Given the description of an element on the screen output the (x, y) to click on. 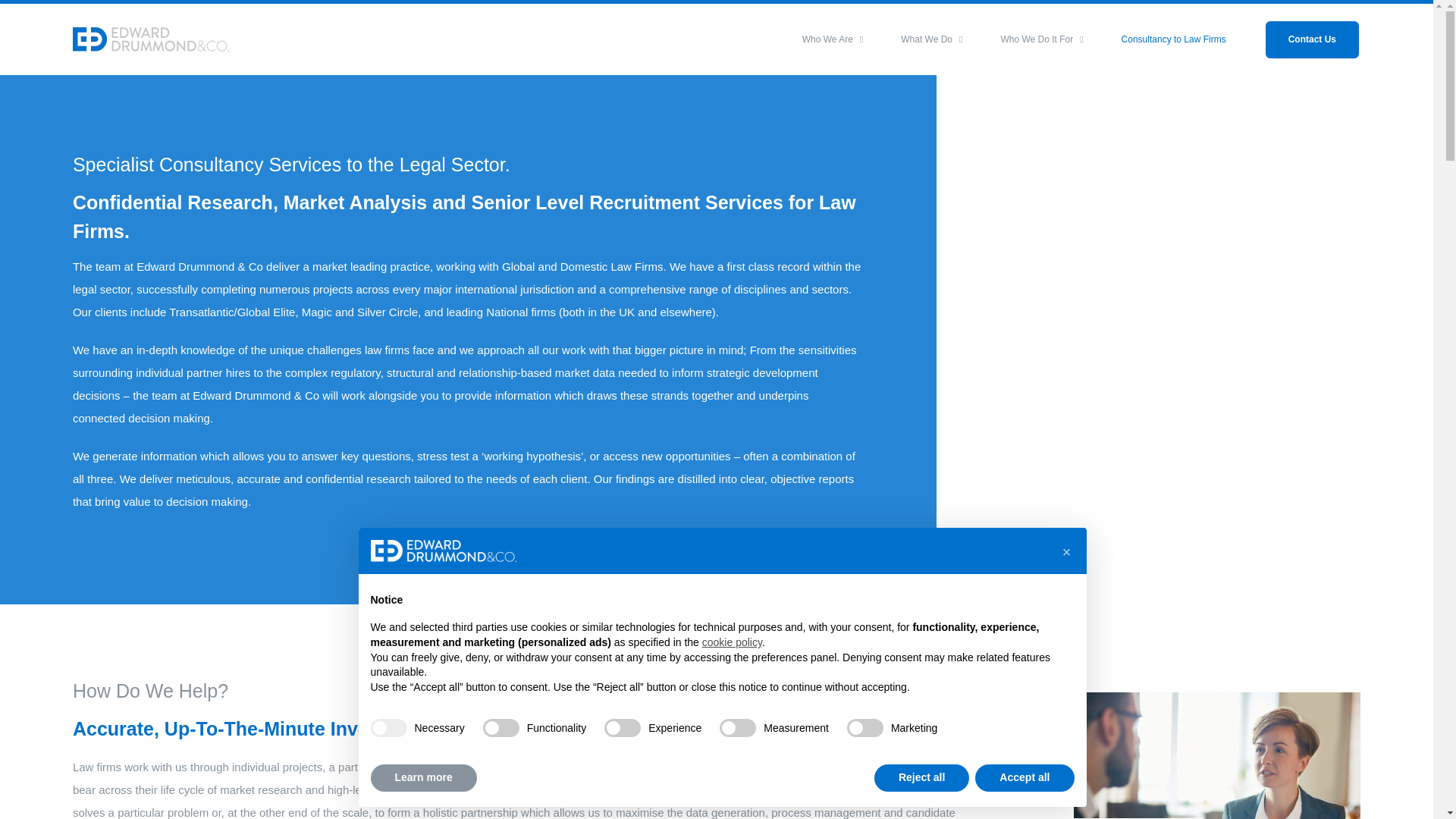
false (622, 728)
Consultancy to Law Firms (1173, 39)
Contact Us (1311, 39)
true (387, 728)
Who We Do It For (1041, 39)
false (501, 728)
false (865, 728)
false (737, 728)
